Given the description of an element on the screen output the (x, y) to click on. 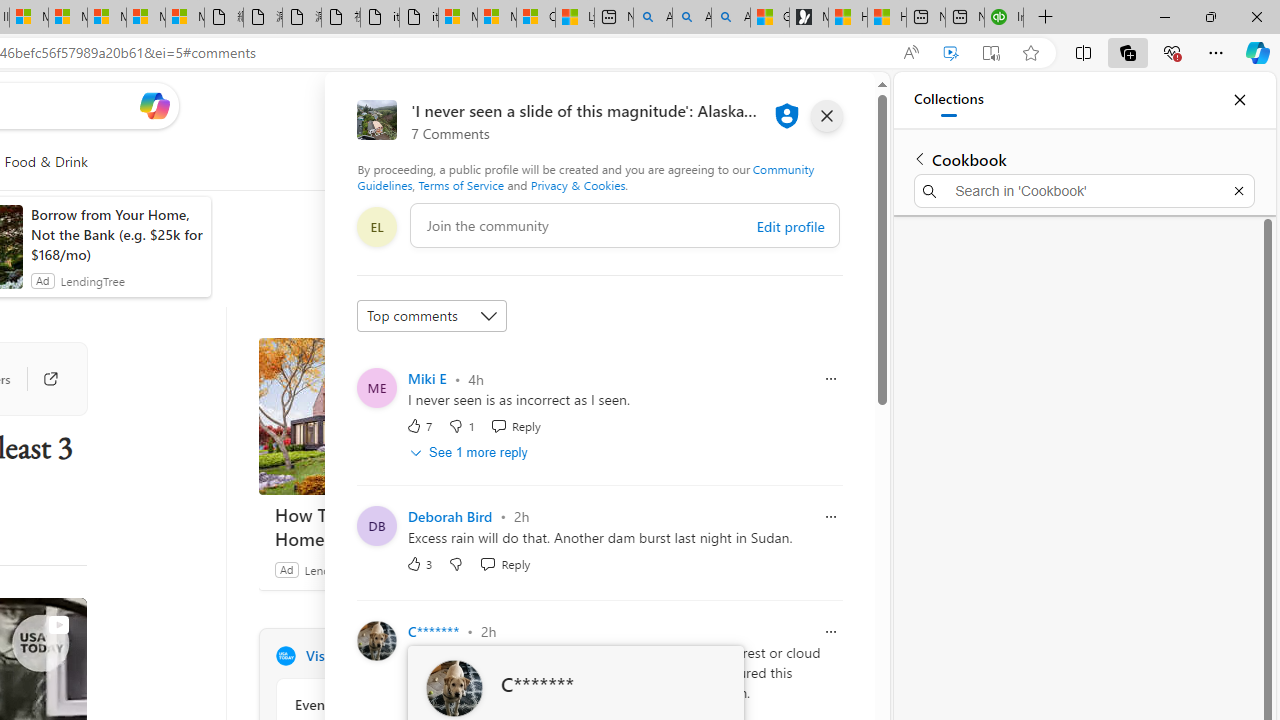
How to Use a TV as a Computer Monitor (886, 17)
comment-box (624, 225)
Search in 'Cookbook' (1084, 190)
Visit USA TODAY website (532, 655)
itconcepthk.com/projector_solutions.mp4 (418, 17)
Alabama high school quarterback dies - Search (652, 17)
